Given the description of an element on the screen output the (x, y) to click on. 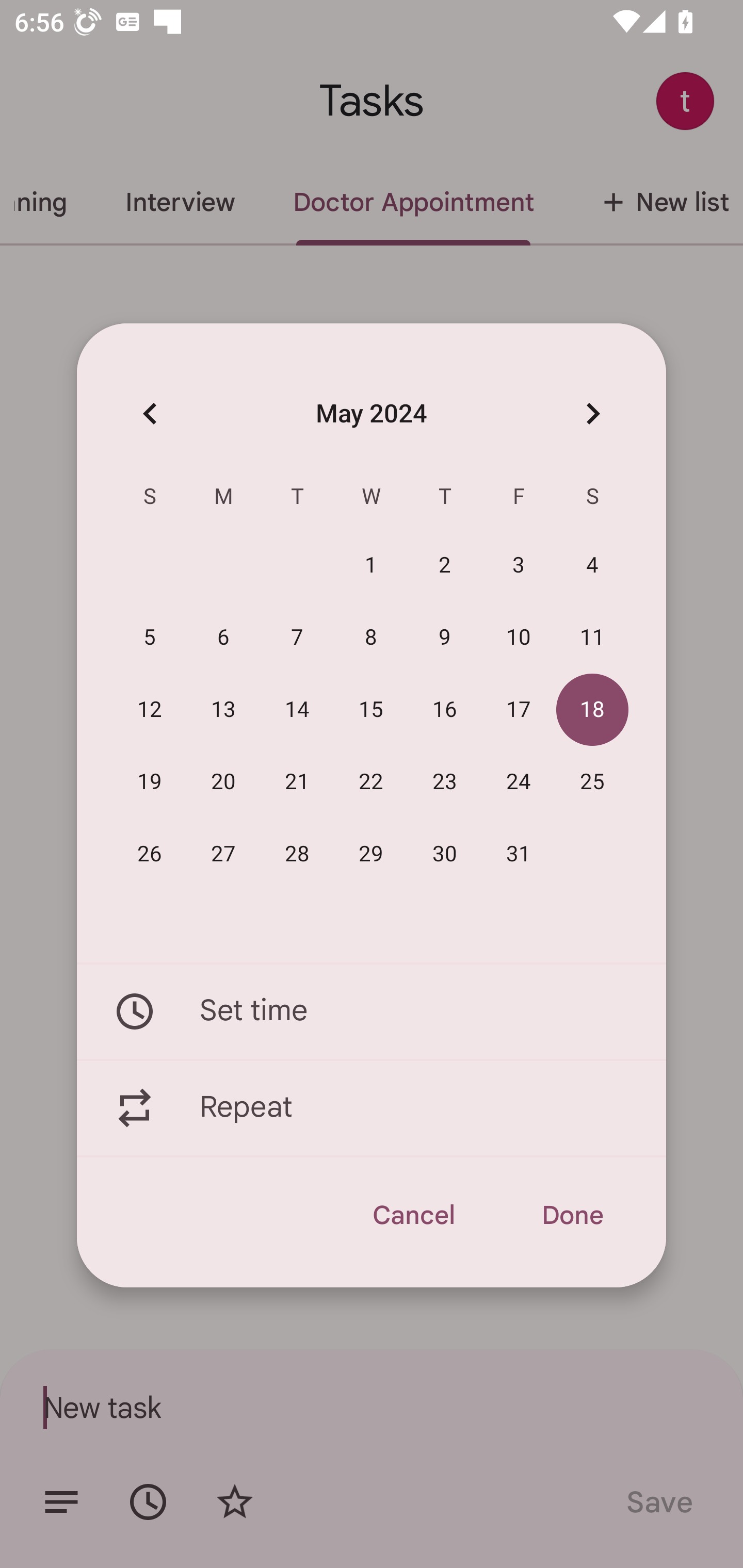
Previous month (149, 413)
Next month (592, 413)
1 01 May 2024 (370, 565)
2 02 May 2024 (444, 565)
3 03 May 2024 (518, 565)
4 04 May 2024 (592, 565)
5 05 May 2024 (149, 638)
6 06 May 2024 (223, 638)
7 07 May 2024 (297, 638)
8 08 May 2024 (370, 638)
9 09 May 2024 (444, 638)
10 10 May 2024 (518, 638)
11 11 May 2024 (592, 638)
12 12 May 2024 (149, 710)
13 13 May 2024 (223, 710)
14 14 May 2024 (297, 710)
15 15 May 2024 (370, 710)
16 16 May 2024 (444, 710)
17 17 May 2024 (518, 710)
18 18 May 2024 (592, 710)
19 19 May 2024 (149, 782)
20 20 May 2024 (223, 782)
21 21 May 2024 (297, 782)
22 22 May 2024 (370, 782)
23 23 May 2024 (444, 782)
24 24 May 2024 (518, 782)
25 25 May 2024 (592, 782)
26 26 May 2024 (149, 854)
27 27 May 2024 (223, 854)
28 28 May 2024 (297, 854)
29 29 May 2024 (370, 854)
30 30 May 2024 (444, 854)
31 31 May 2024 (518, 854)
Set time (371, 1011)
Repeat (371, 1108)
Cancel (412, 1215)
Done (571, 1215)
